Given the description of an element on the screen output the (x, y) to click on. 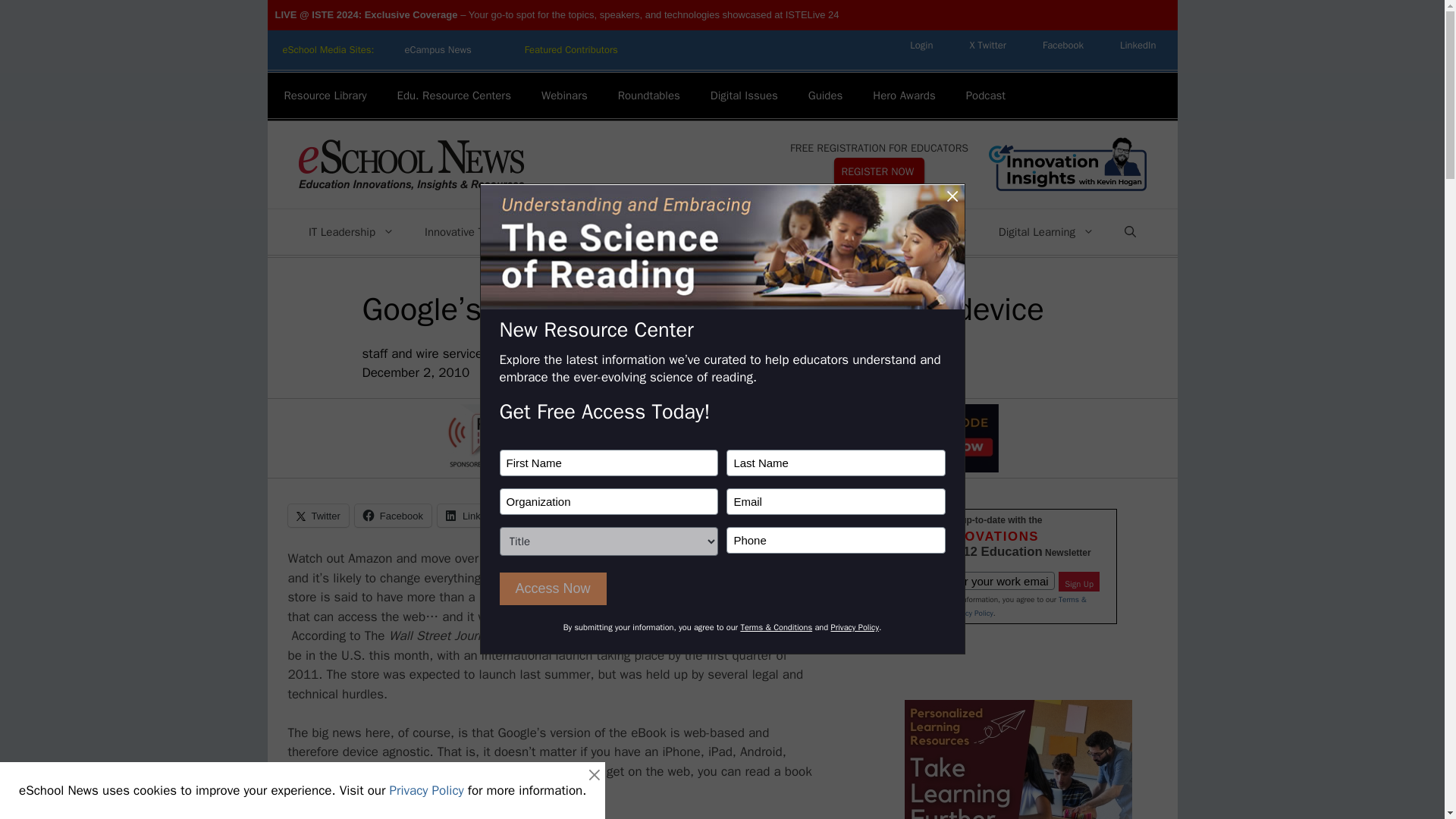
Edu. Resource Centers (453, 94)
REGISTER NOW  (879, 171)
eCampus News (437, 50)
Access Now (552, 588)
Click to email a link to a friend (542, 515)
eSchool Media Sites: (327, 50)
eSchool News (410, 163)
Facebook (1063, 45)
Hero Awards (903, 94)
eSchool News (410, 164)
eClassroom News (571, 50)
Click to share on LinkedIn (473, 515)
Login (921, 45)
LinkedIn (1138, 45)
View all posts by staff and wire services reports (447, 353)
